Given the description of an element on the screen output the (x, y) to click on. 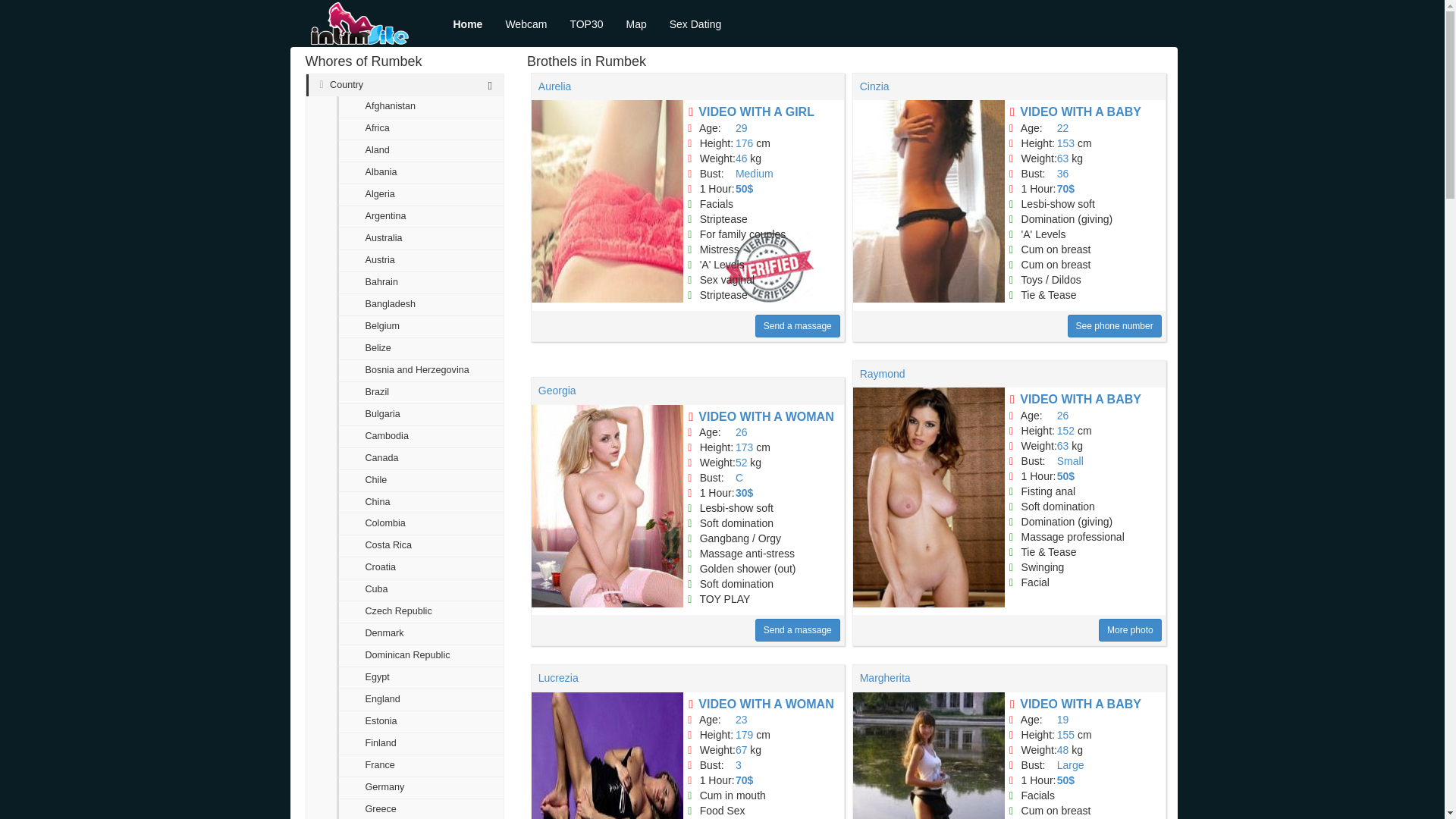
Bosnia and Herzegovina (419, 371)
Argentina (419, 217)
Finland (419, 744)
Croatia (419, 568)
Chile (419, 481)
France (419, 766)
Brazil (419, 393)
Afghanistan (419, 106)
Bangladesh (419, 305)
Colombia (419, 524)
